Given the description of an element on the screen output the (x, y) to click on. 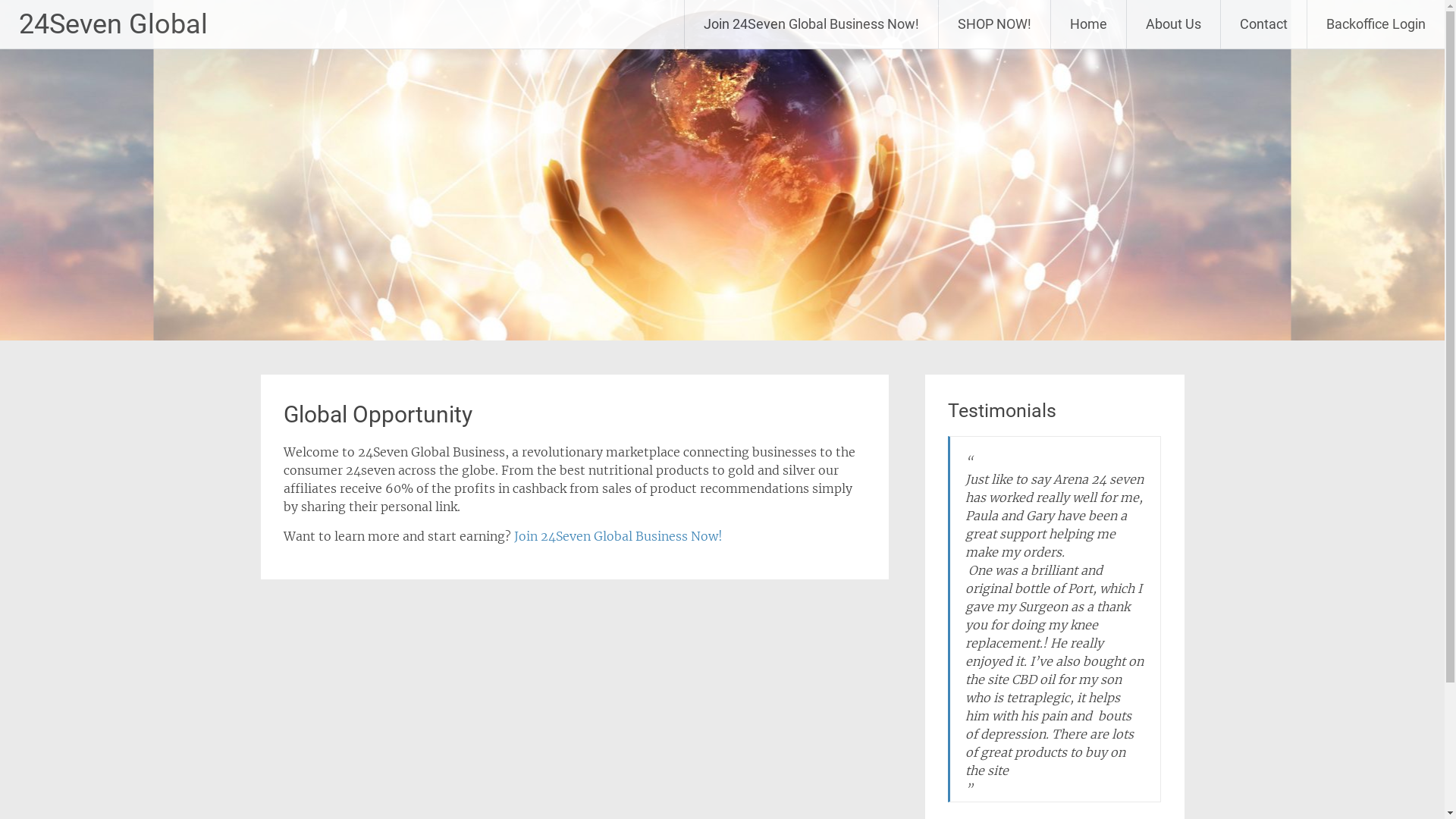
Home Element type: text (1088, 24)
24Seven Global Element type: text (112, 24)
Contact Element type: text (1263, 24)
About Us Element type: text (1173, 24)
Join 24Seven Global Business Now! Element type: text (811, 24)
SHOP NOW! Element type: text (994, 24)
Join 24Seven Global Business Now! Element type: text (618, 535)
Backoffice Login Element type: text (1375, 24)
